Given the description of an element on the screen output the (x, y) to click on. 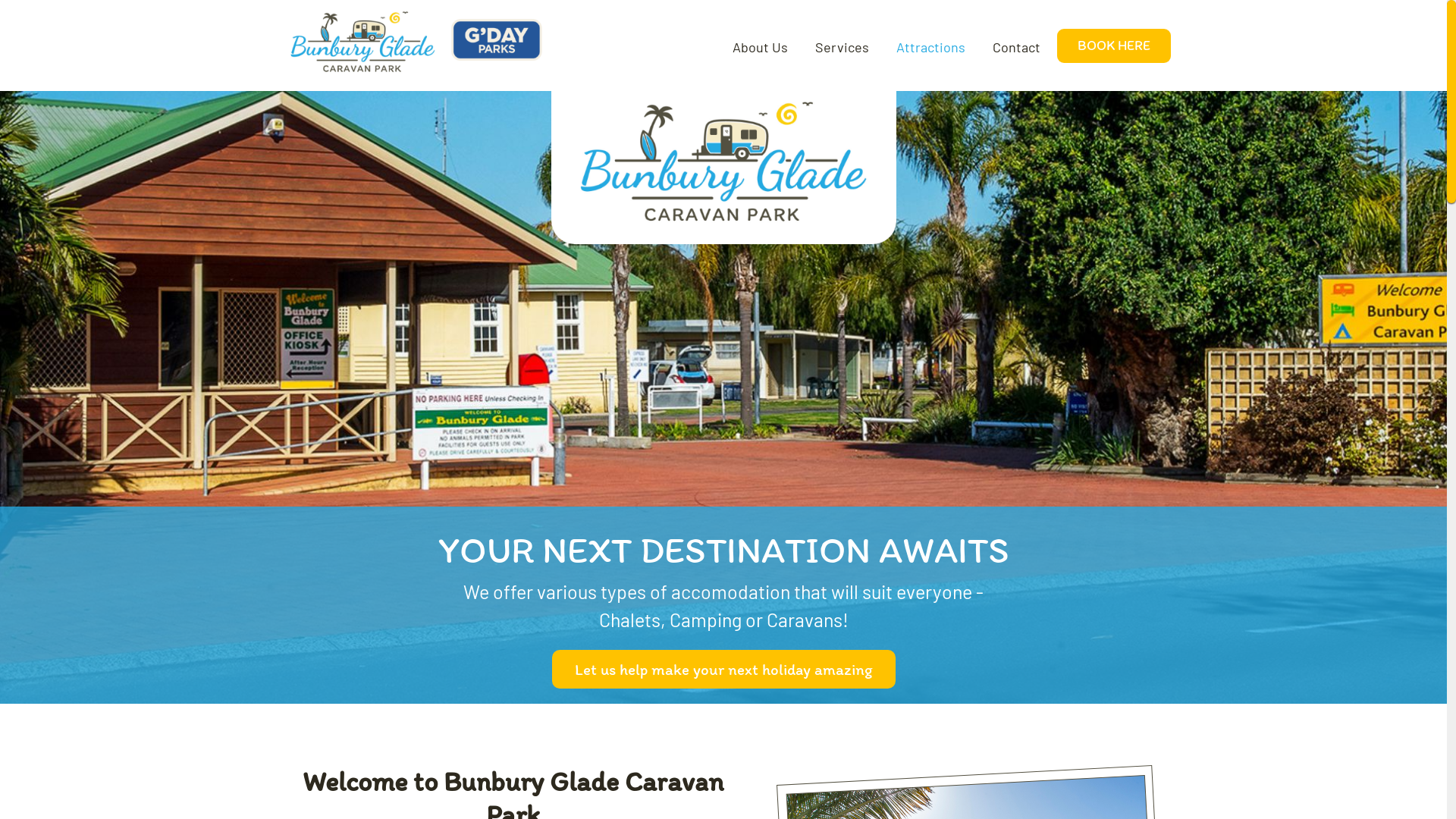
BOOK HERE Element type: text (1113, 45)
Contact Element type: text (1016, 47)
Attractions Element type: text (930, 47)
Let us help make your next holiday amazing Element type: text (723, 669)
About Us Element type: text (759, 47)
Home Element type: text (412, 45)
Services Element type: text (841, 47)
